Given the description of an element on the screen output the (x, y) to click on. 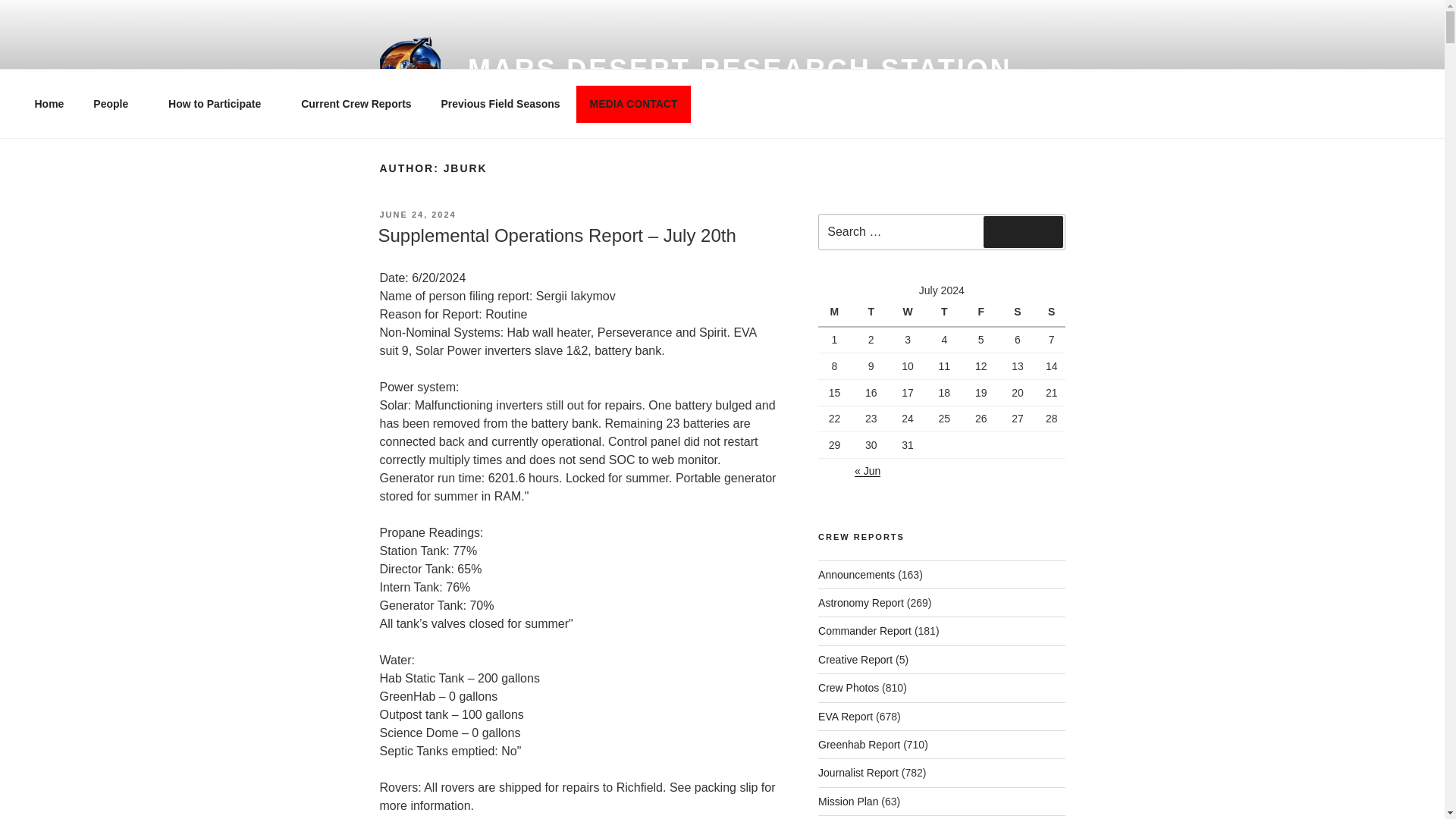
Sunday (1051, 312)
Tuesday (872, 312)
Thursday (945, 312)
Monday (836, 312)
MARS DESERT RESEARCH STATION (739, 69)
JUNE 24, 2024 (416, 214)
Saturday (1019, 312)
How to Participate (220, 103)
People (116, 103)
Current Crew Reports (356, 103)
MEDIA CONTACT (633, 103)
Wednesday (909, 312)
Previous Field Seasons (500, 103)
Home (49, 103)
Friday (982, 312)
